Given the description of an element on the screen output the (x, y) to click on. 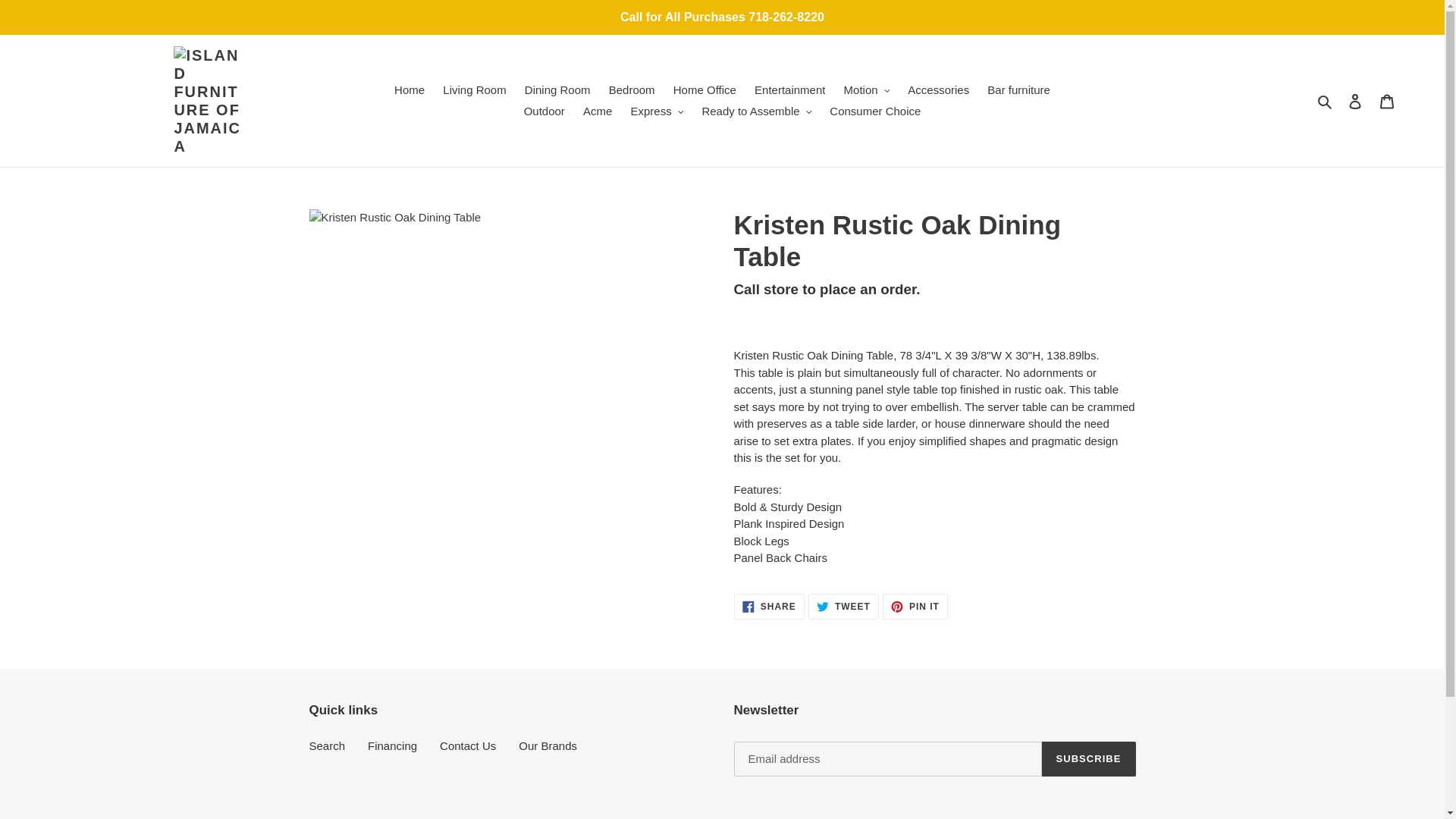
Entertainment (789, 89)
Consumer Choice (875, 111)
Acme (597, 111)
Search (1326, 100)
Dining Room (557, 89)
Home (409, 89)
Express (657, 111)
Outdoor (544, 111)
Ready to Assemble (756, 111)
Bar furniture (1018, 89)
Cart (1387, 101)
Bedroom (631, 89)
Home Office (704, 89)
Log in (1355, 101)
Living Room (474, 89)
